Given the description of an element on the screen output the (x, y) to click on. 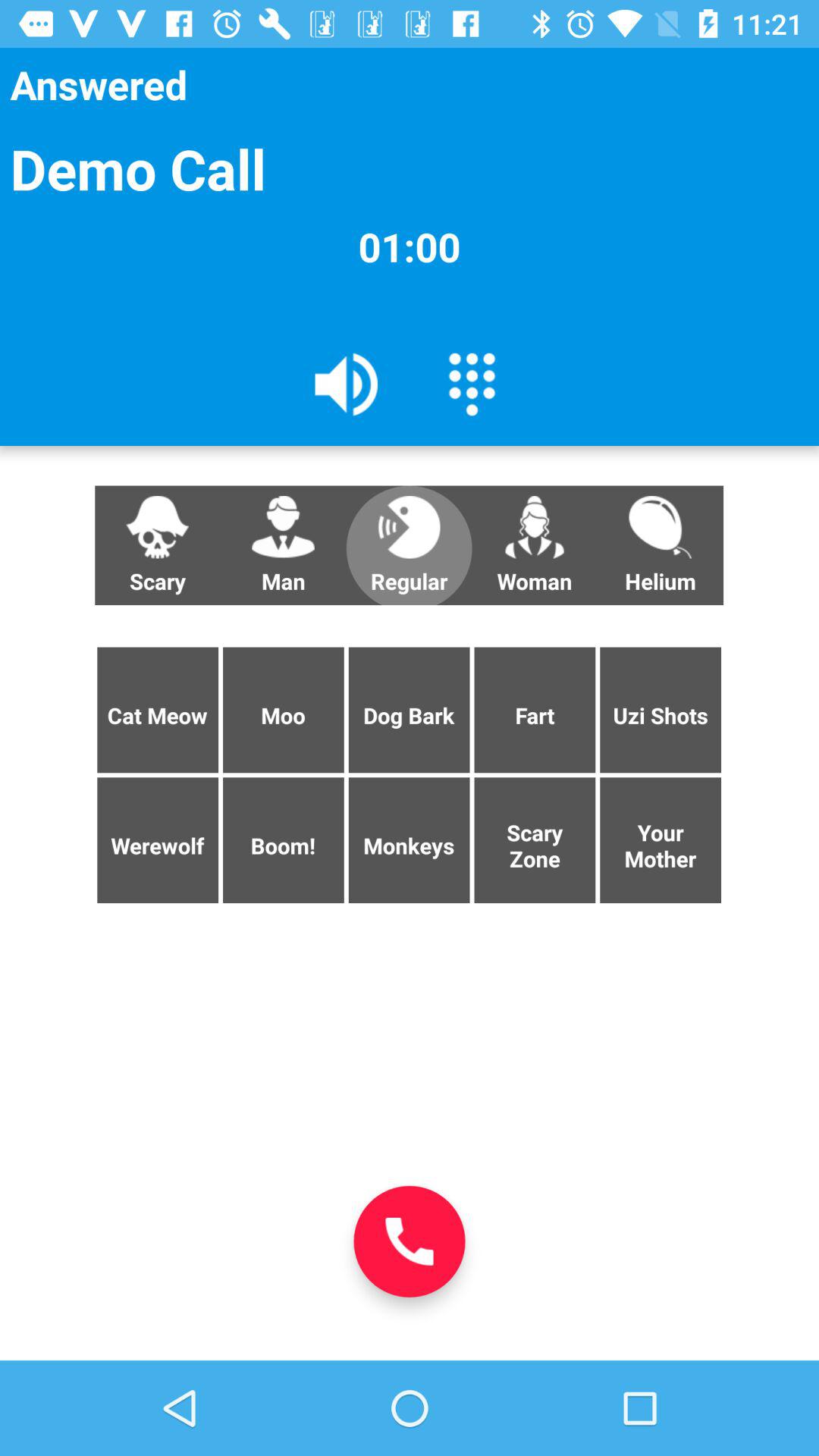
select the icon above man icon (346, 382)
